Given the description of an element on the screen output the (x, y) to click on. 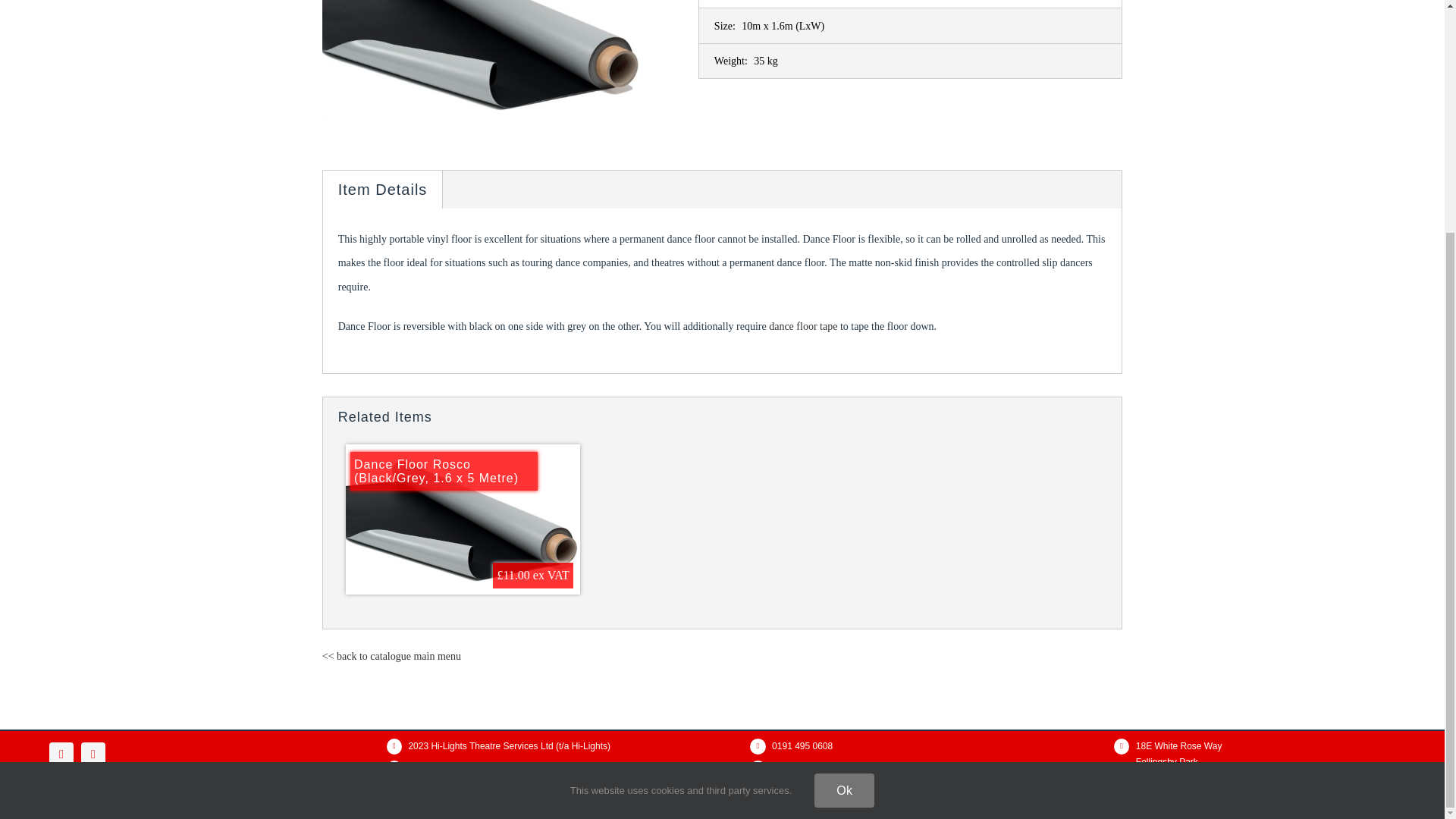
Item Details (382, 189)
dance floor tape (802, 326)
